Given the description of an element on the screen output the (x, y) to click on. 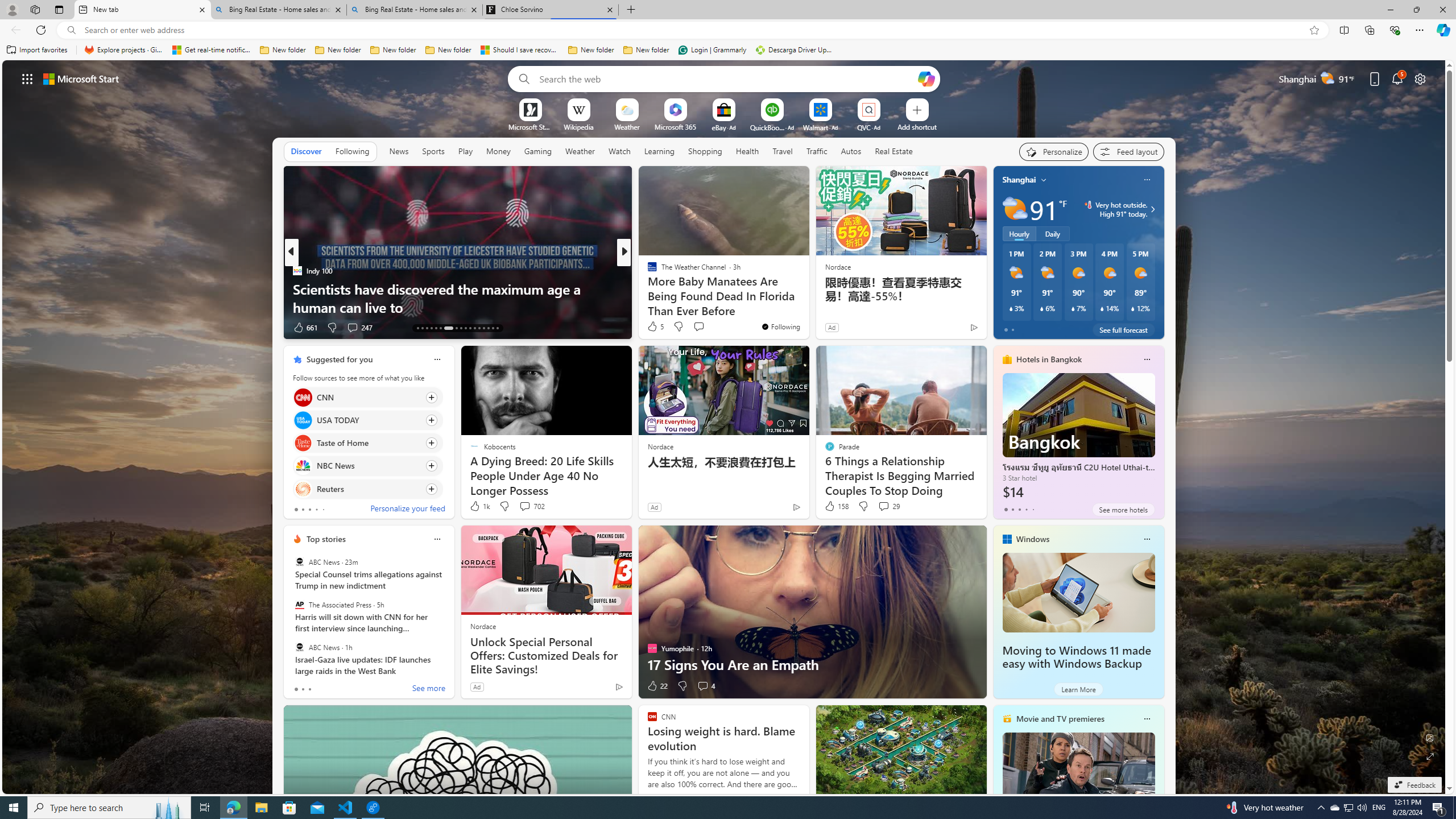
How to Survive (647, 288)
13 Things You Should Never Tolerate in Your Life (807, 307)
View comments 19 Comment (707, 327)
Favorites bar (728, 49)
Expand background (1430, 756)
Health (746, 151)
Real Estate (893, 151)
See more hotels (1123, 509)
Microsoft start (81, 78)
Money (498, 151)
tab-0 (295, 689)
